Given the description of an element on the screen output the (x, y) to click on. 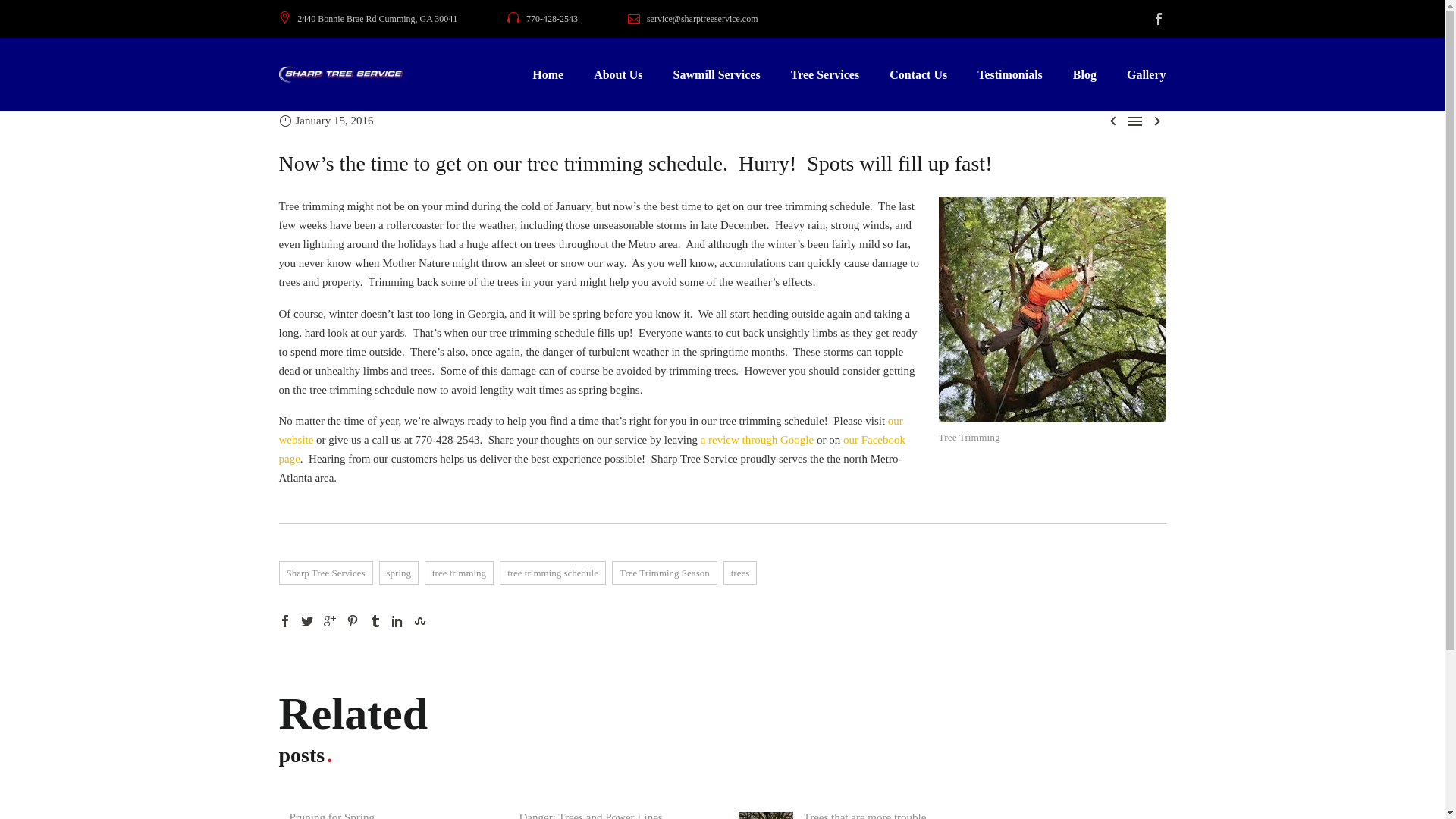
Twitter (307, 621)
trees (740, 572)
Gallery (1146, 74)
tree trimming schedule (552, 572)
Sharp Tree Services (325, 572)
About Us (618, 74)
Tree Trimming Season (664, 572)
Facebook (285, 621)
tree trimming (459, 572)
Next post (1157, 120)
